Given the description of an element on the screen output the (x, y) to click on. 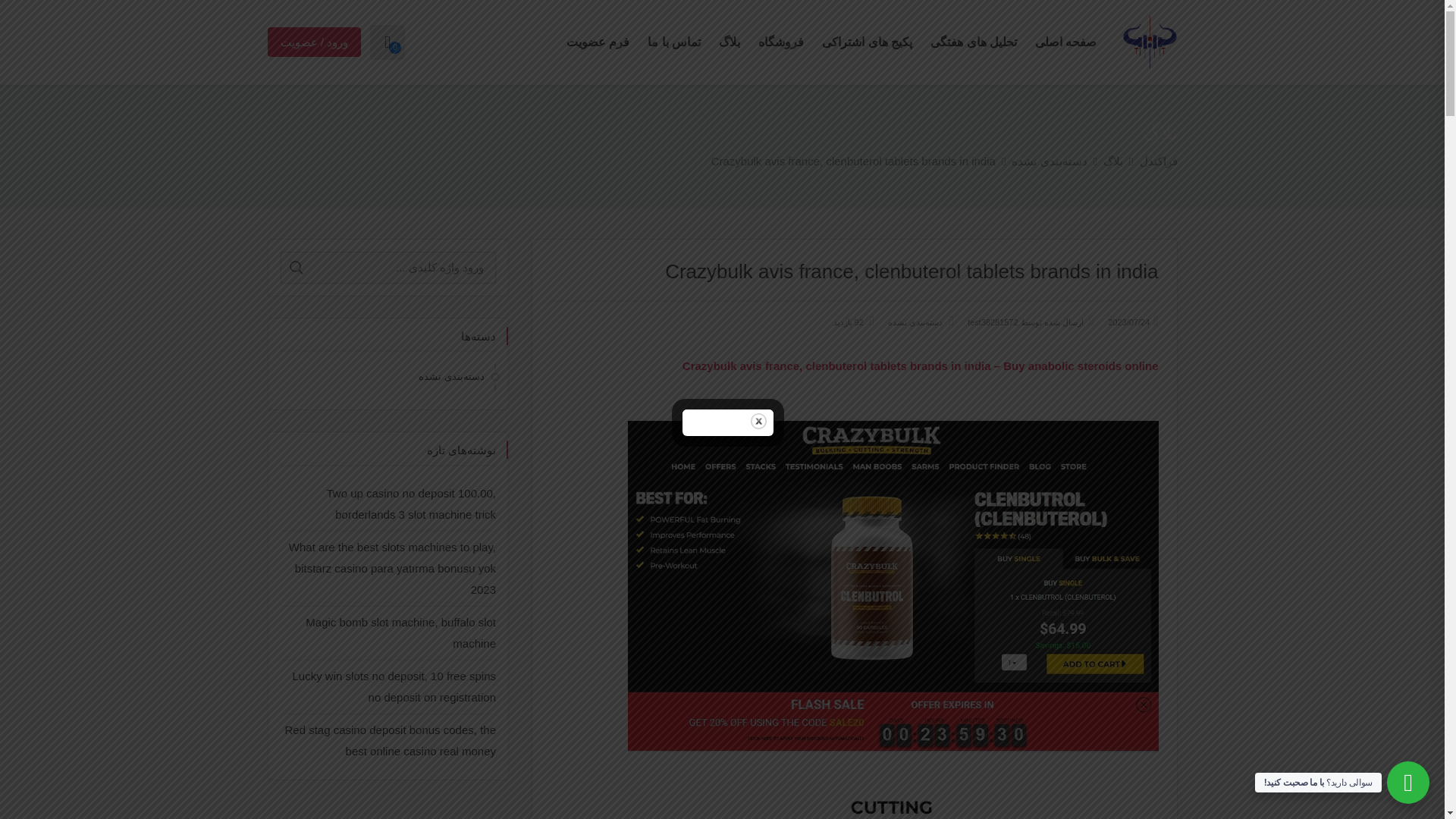
test38281572 (992, 321)
avis crazybulk france (892, 807)
0 (386, 42)
